Given the description of an element on the screen output the (x, y) to click on. 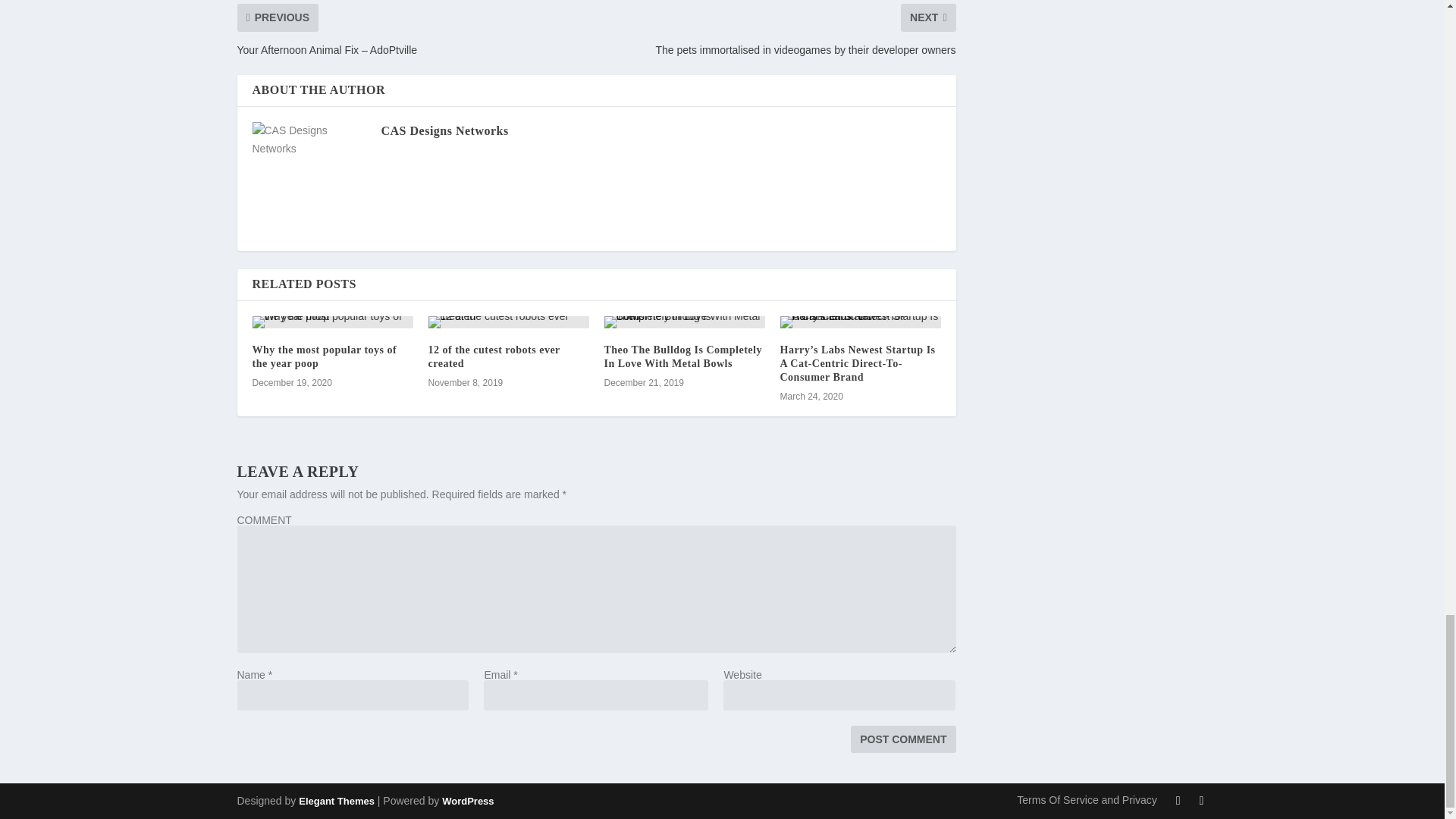
Post Comment (902, 738)
